Given the description of an element on the screen output the (x, y) to click on. 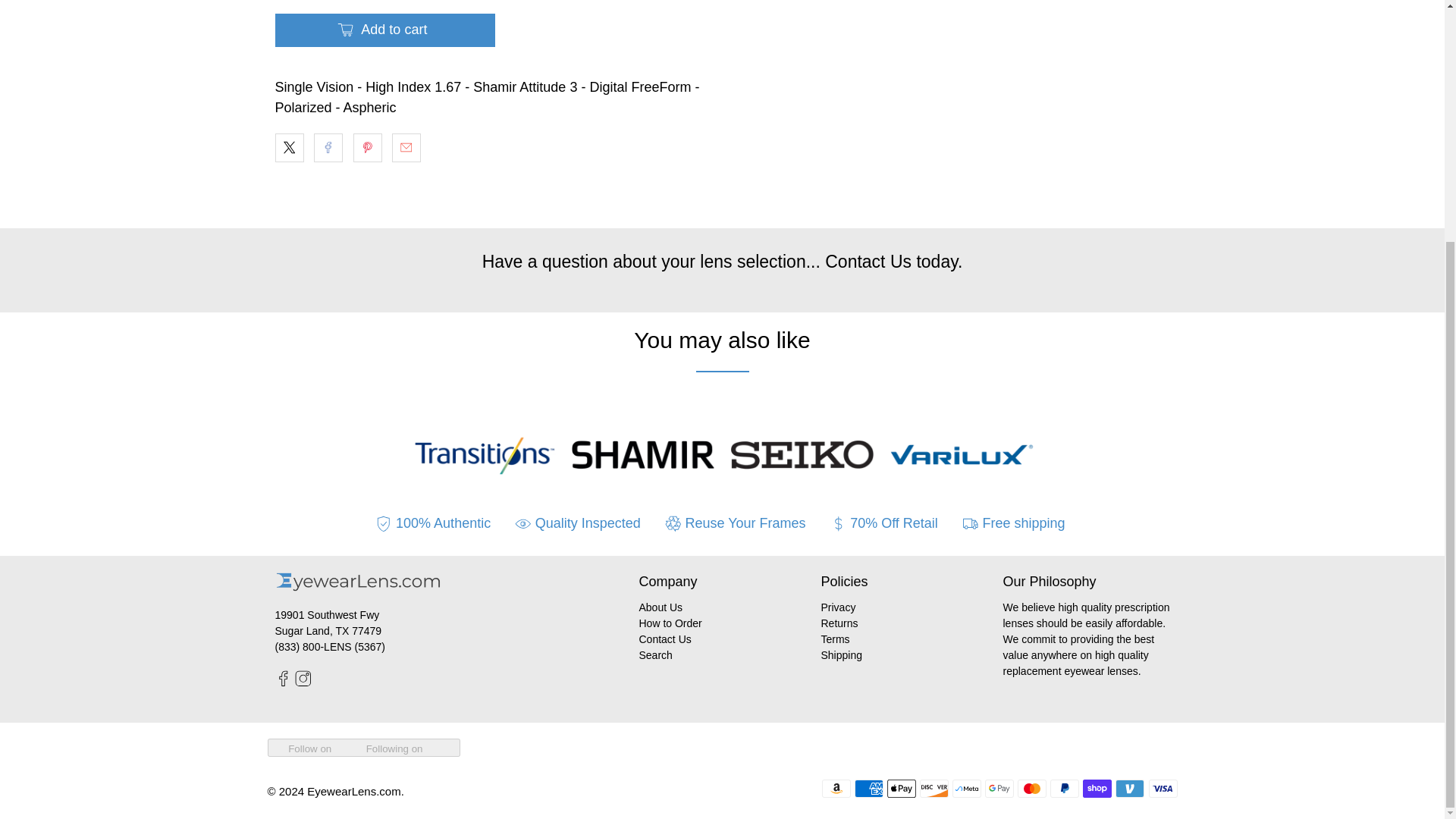
Email this to a friend (405, 147)
EyewearLens.com on Instagram (303, 683)
EyewearLens.com on Facebook (283, 683)
Contact Us (868, 261)
Share this on Pinterest (367, 147)
EyewearLens.com (358, 589)
Share this on X (288, 147)
Share this on Facebook (328, 147)
